Given the description of an element on the screen output the (x, y) to click on. 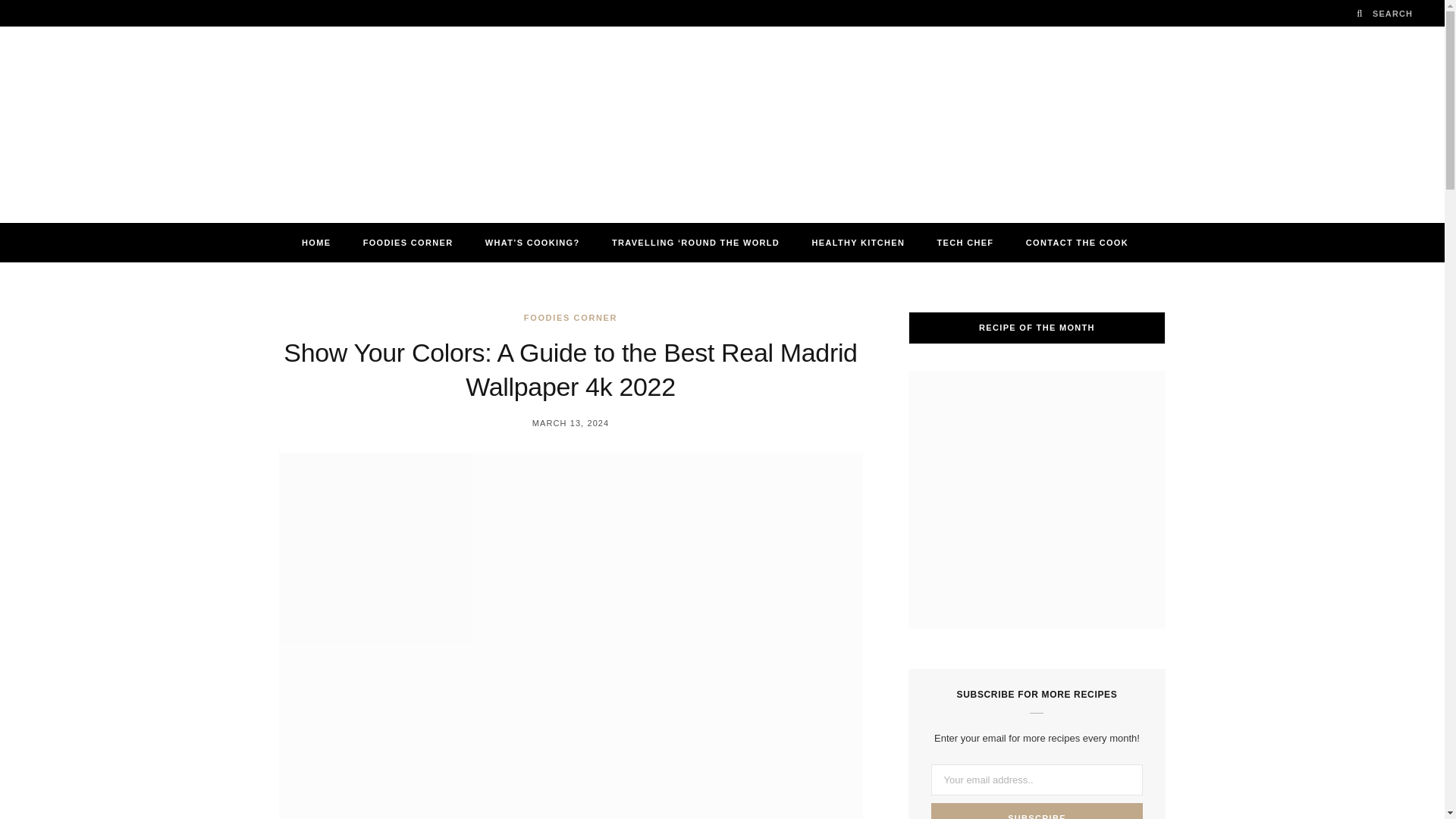
HEALTHY KITCHEN (857, 242)
TECH CHEF (966, 242)
HOME (315, 242)
That Bites (721, 124)
FOODIES CORNER (408, 242)
Subscribe (1036, 810)
CONTACT THE COOK (1076, 242)
MARCH 13, 2024 (571, 422)
FOODIES CORNER (570, 318)
